Given the description of an element on the screen output the (x, y) to click on. 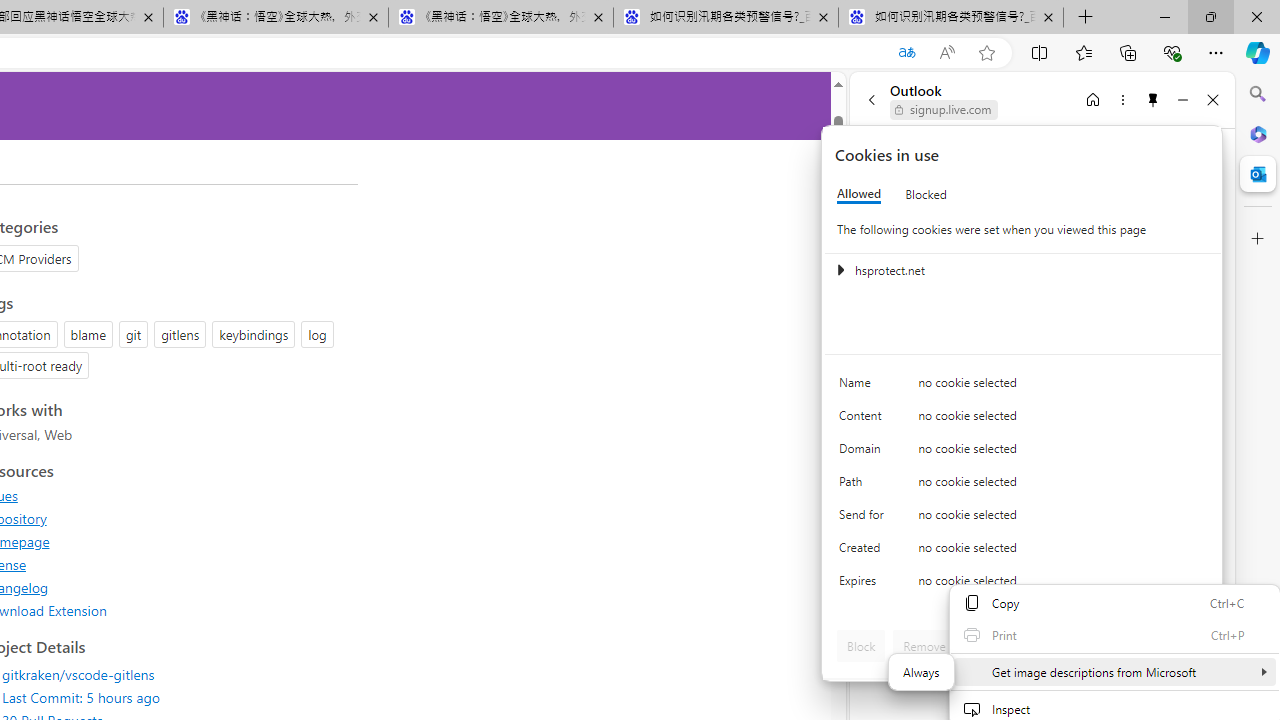
Print (1114, 634)
Block (861, 645)
Content (864, 420)
Blocked (925, 193)
Class: c0153 c0157 c0154 (1023, 386)
Class: c0153 c0157 (1023, 584)
Done (1179, 645)
Domain (864, 452)
Created (864, 552)
Send for (864, 518)
Get image descriptions from Microsoft (921, 671)
Allowed (859, 193)
Expires (864, 585)
no cookie selected (1062, 585)
Get image descriptions from Microsoft (1114, 671)
